Given the description of an element on the screen output the (x, y) to click on. 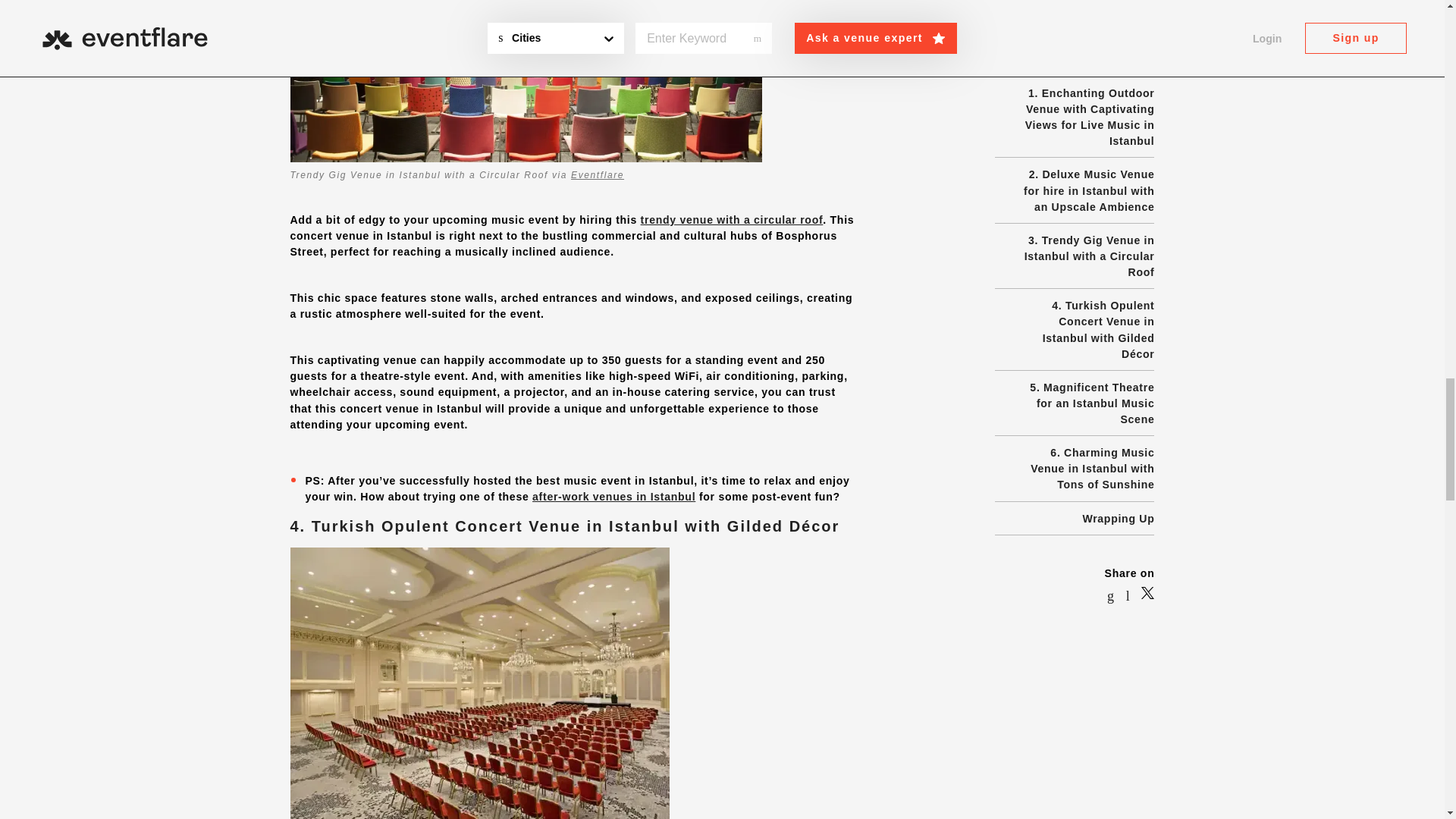
Eventflare (597, 174)
trendy venue with a circular roof (732, 219)
after-work venues in Istanbul (613, 496)
